Given the description of an element on the screen output the (x, y) to click on. 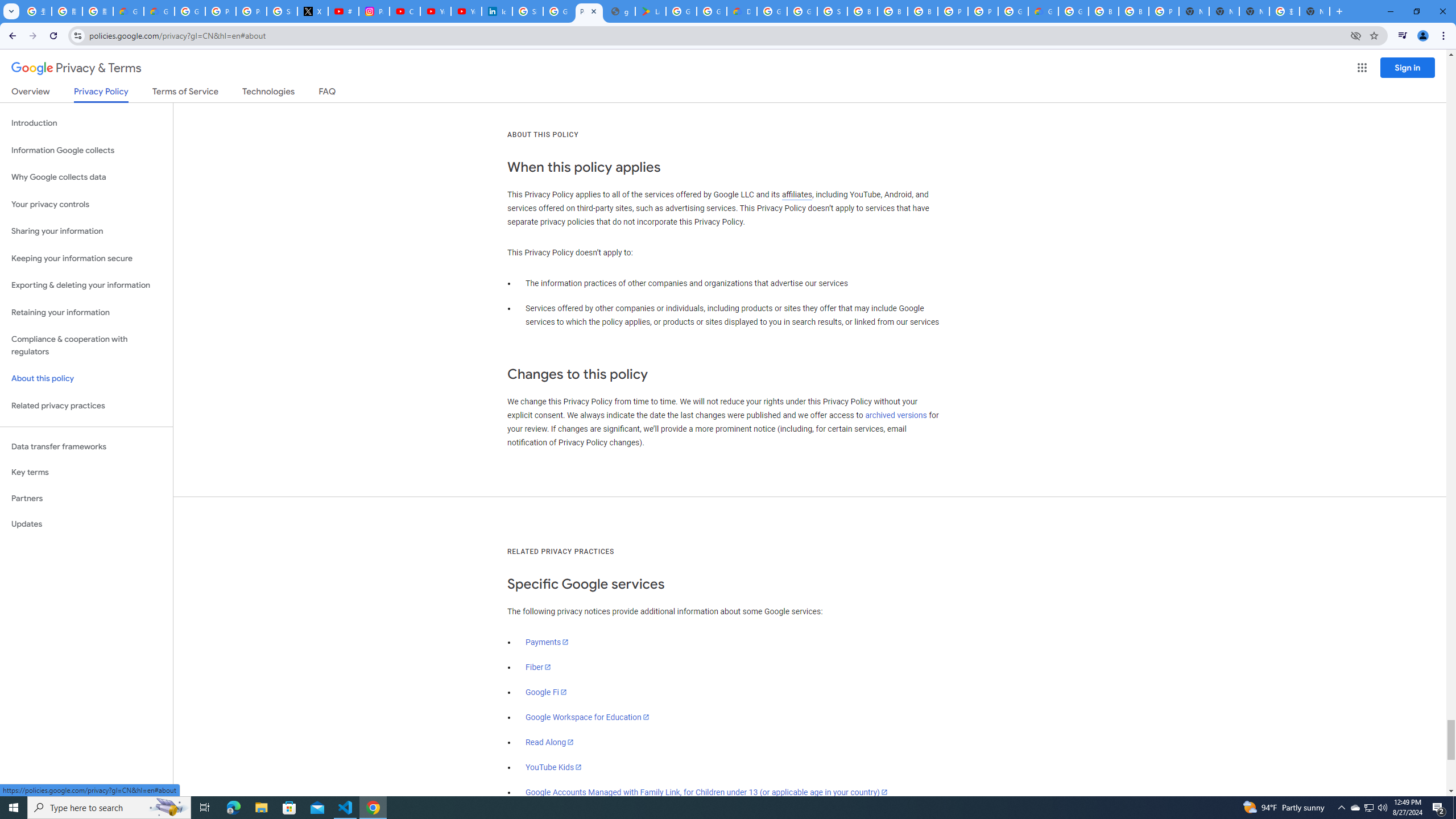
Sign in - Google Accounts (832, 11)
YouTube Kids (553, 767)
Read Along (550, 741)
